Given the description of an element on the screen output the (x, y) to click on. 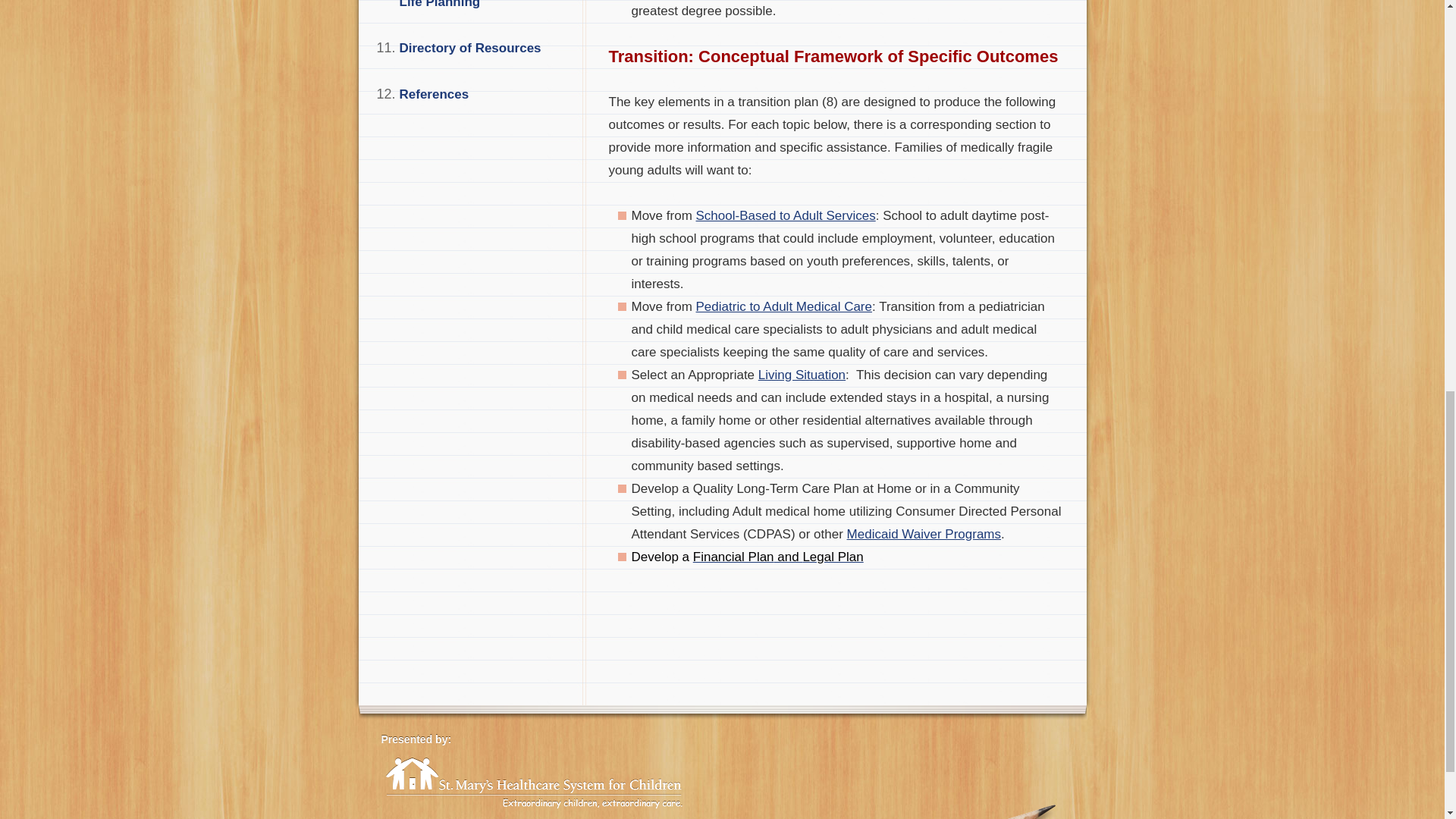
School Transition Process (785, 215)
Living Situation (801, 374)
Estate Planning (778, 556)
School-Based to Adult Services (785, 215)
Pediatric to Adult Medical Care (783, 306)
What is Transitioning? (783, 306)
Residential Options (801, 374)
Financial Plan and Legal Plan (778, 556)
Medicaid Waivers (924, 534)
Medicaid Waiver Programs (924, 534)
